Given the description of an element on the screen output the (x, y) to click on. 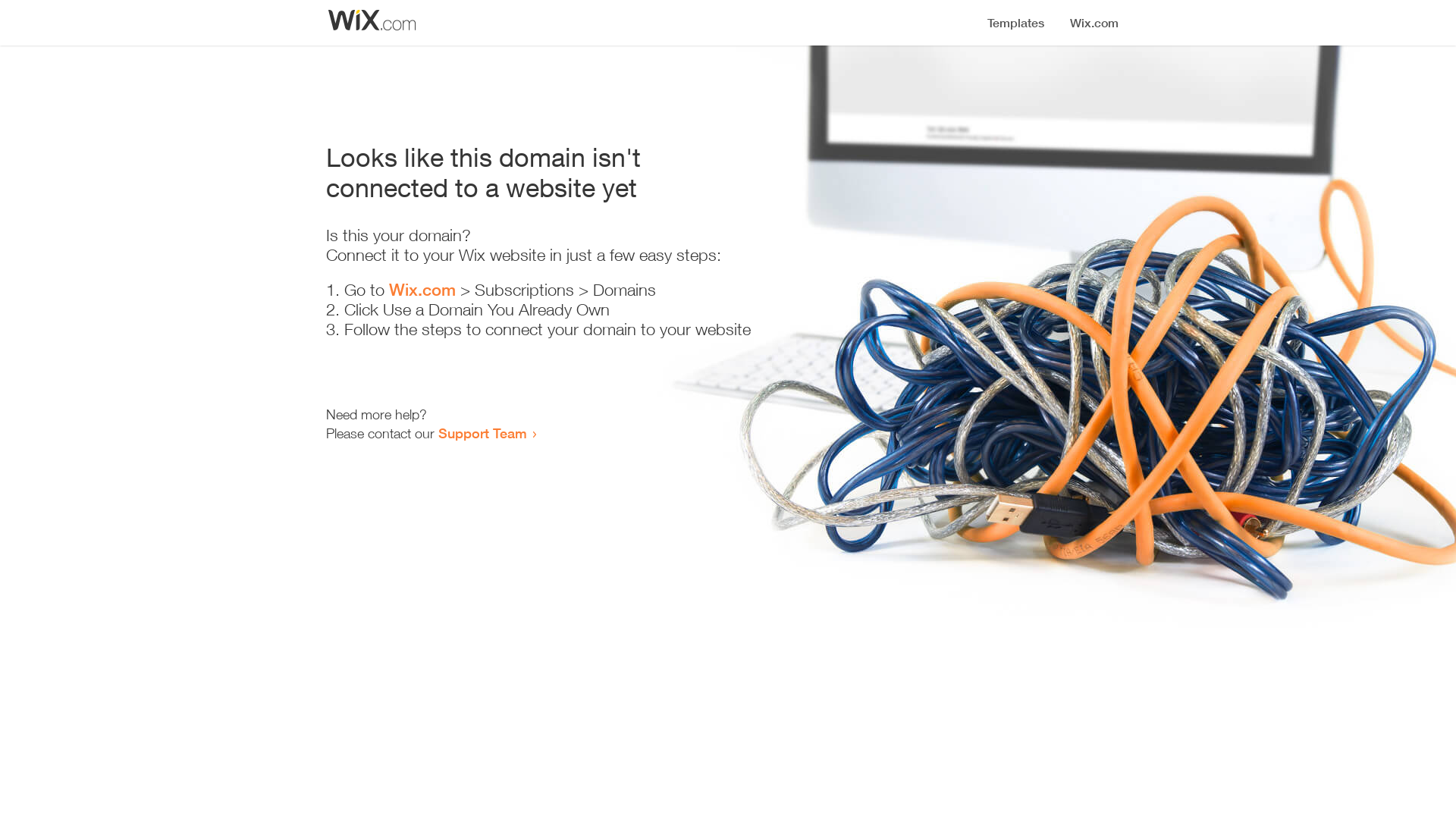
Wix.com Element type: text (422, 289)
Support Team Element type: text (482, 432)
